Given the description of an element on the screen output the (x, y) to click on. 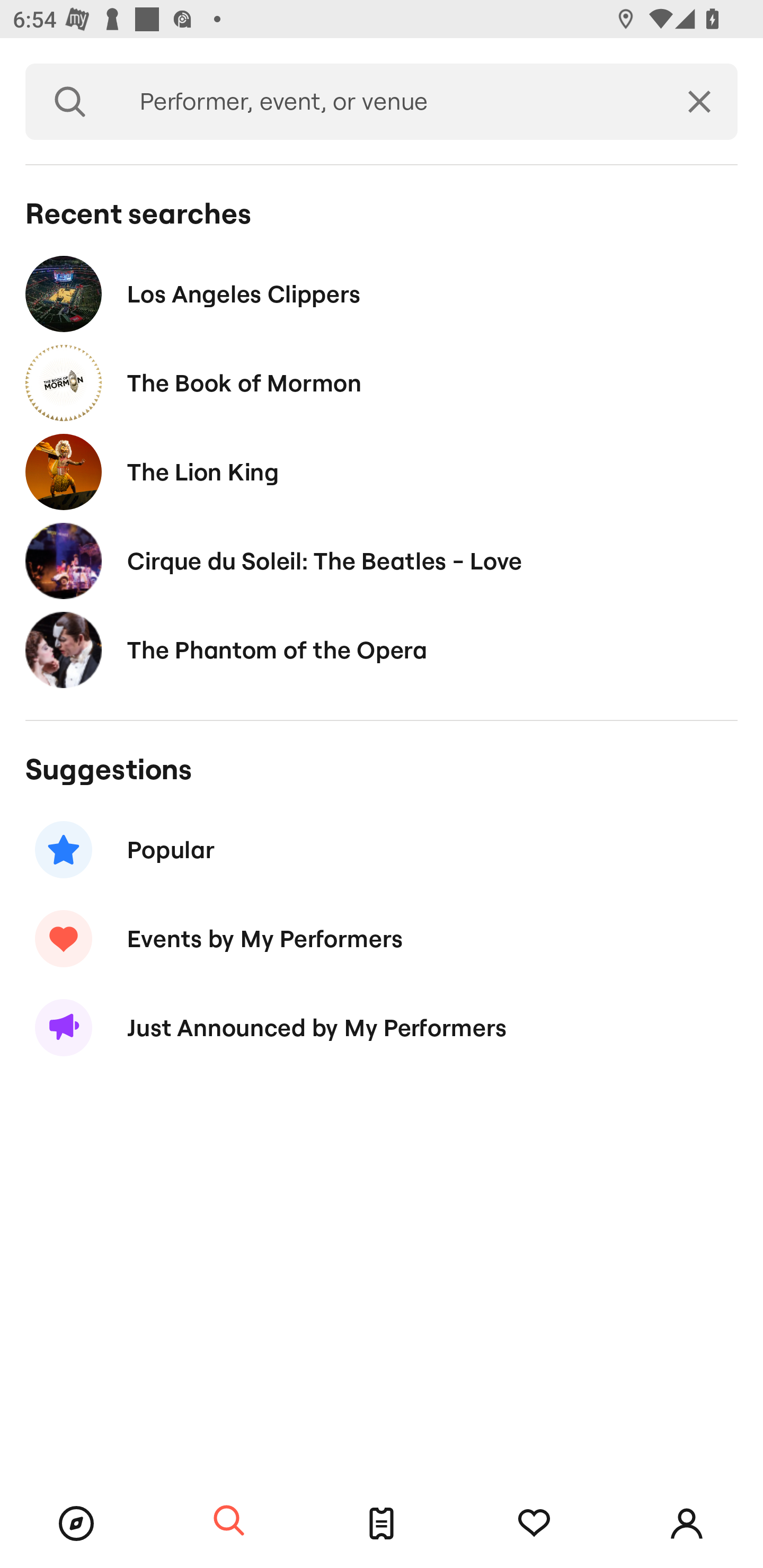
Search (69, 101)
Performer, event, or venue (387, 101)
Clear (699, 101)
Los Angeles Clippers (381, 293)
The Book of Mormon (381, 383)
The Lion King (381, 471)
Cirque du Soleil: The Beatles - Love (381, 560)
The Phantom of the Opera (381, 649)
Popular (381, 849)
Events by My Performers (381, 938)
Just Announced by My Performers (381, 1027)
Browse (76, 1523)
Search (228, 1521)
Tickets (381, 1523)
Tracking (533, 1523)
Account (686, 1523)
